Given the description of an element on the screen output the (x, y) to click on. 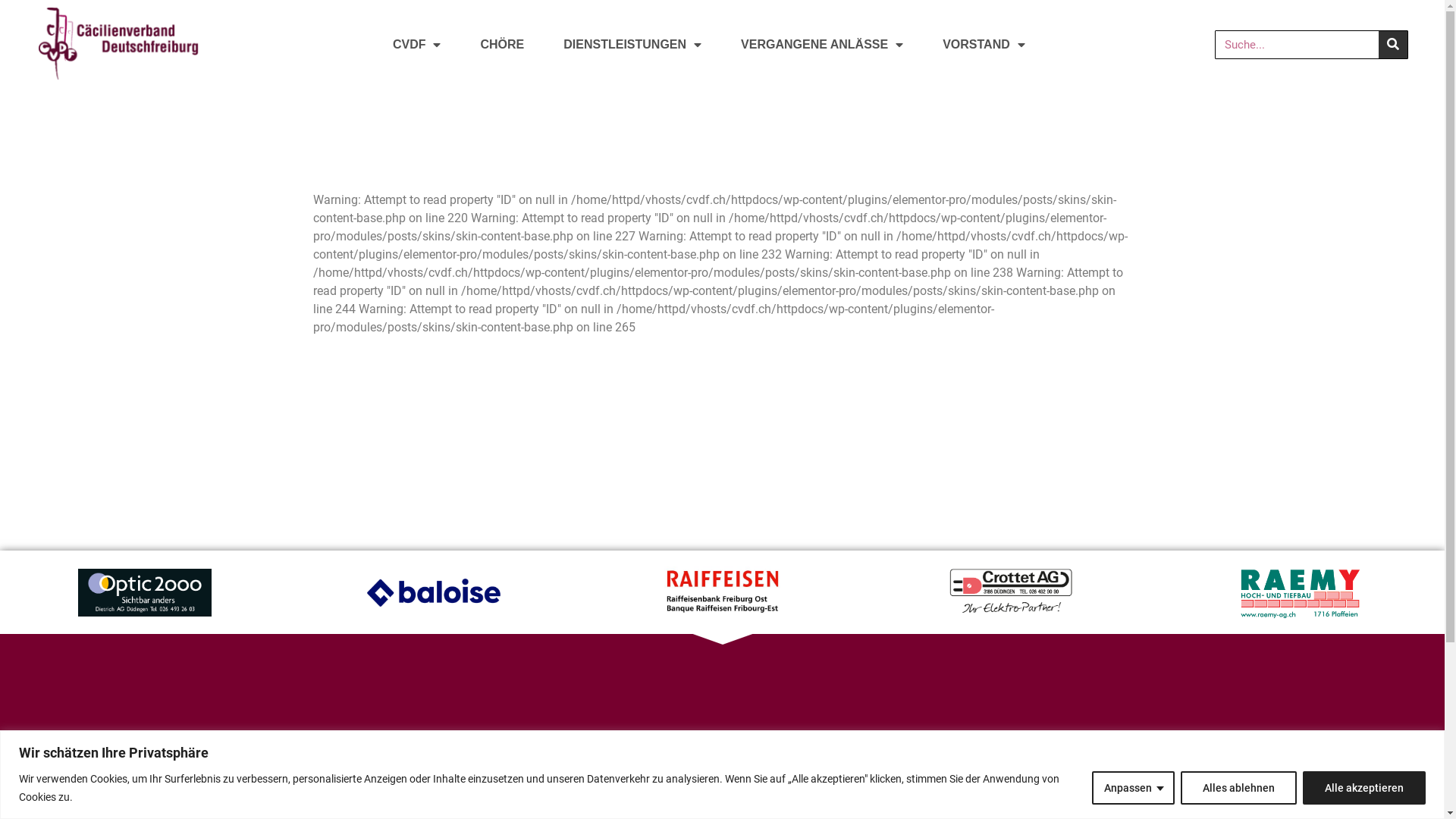
Organisten- und Dirigentenverband Element type: text (1053, 791)
Login Vorstandsmitglieder Element type: text (1053, 755)
Login Chorwebmaster Element type: text (1053, 773)
DIENSTLEISTUNGEN Element type: text (579, 791)
CVDF Element type: text (579, 755)
DIENSTLEISTUNGEN Element type: text (632, 44)
Alle akzeptieren Element type: text (1363, 786)
Chorpass Element type: text (812, 791)
Alles ablehnen Element type: text (1238, 786)
Musica sacra Element type: text (812, 755)
CVDF Element type: text (417, 44)
Anpassen Element type: text (1133, 786)
VORSTAND Element type: text (983, 44)
